Given the description of an element on the screen output the (x, y) to click on. 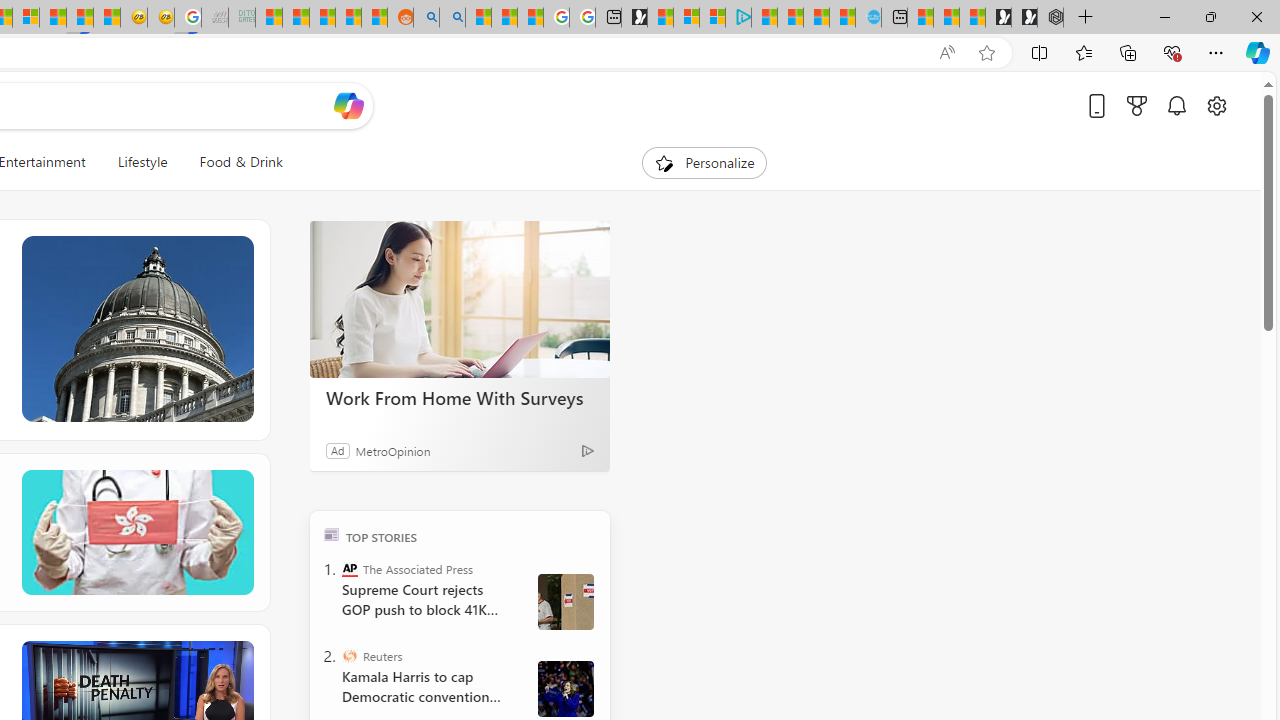
Reuters (349, 655)
